Given the description of an element on the screen output the (x, y) to click on. 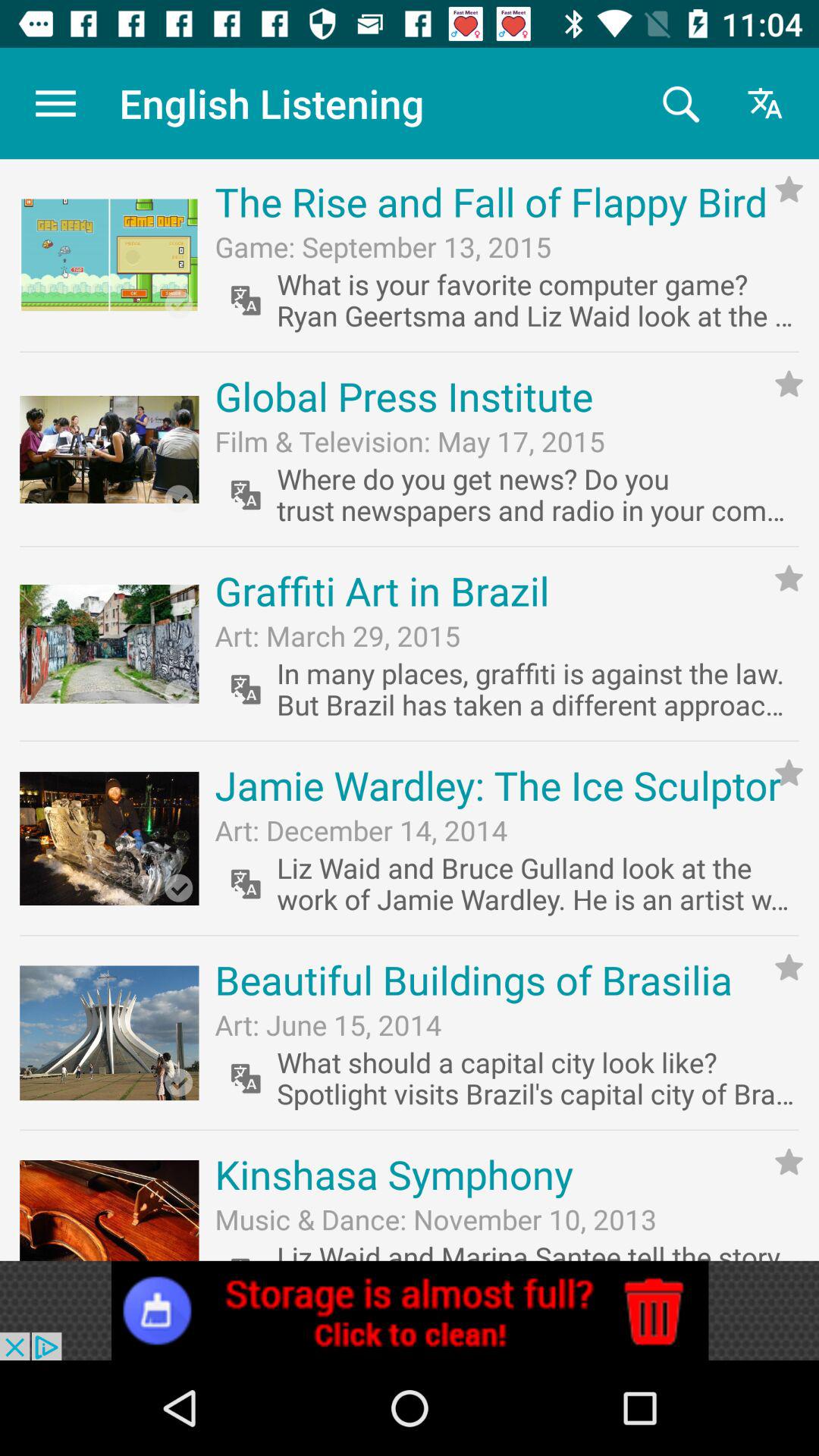
open advertisement (409, 1310)
